Given the description of an element on the screen output the (x, y) to click on. 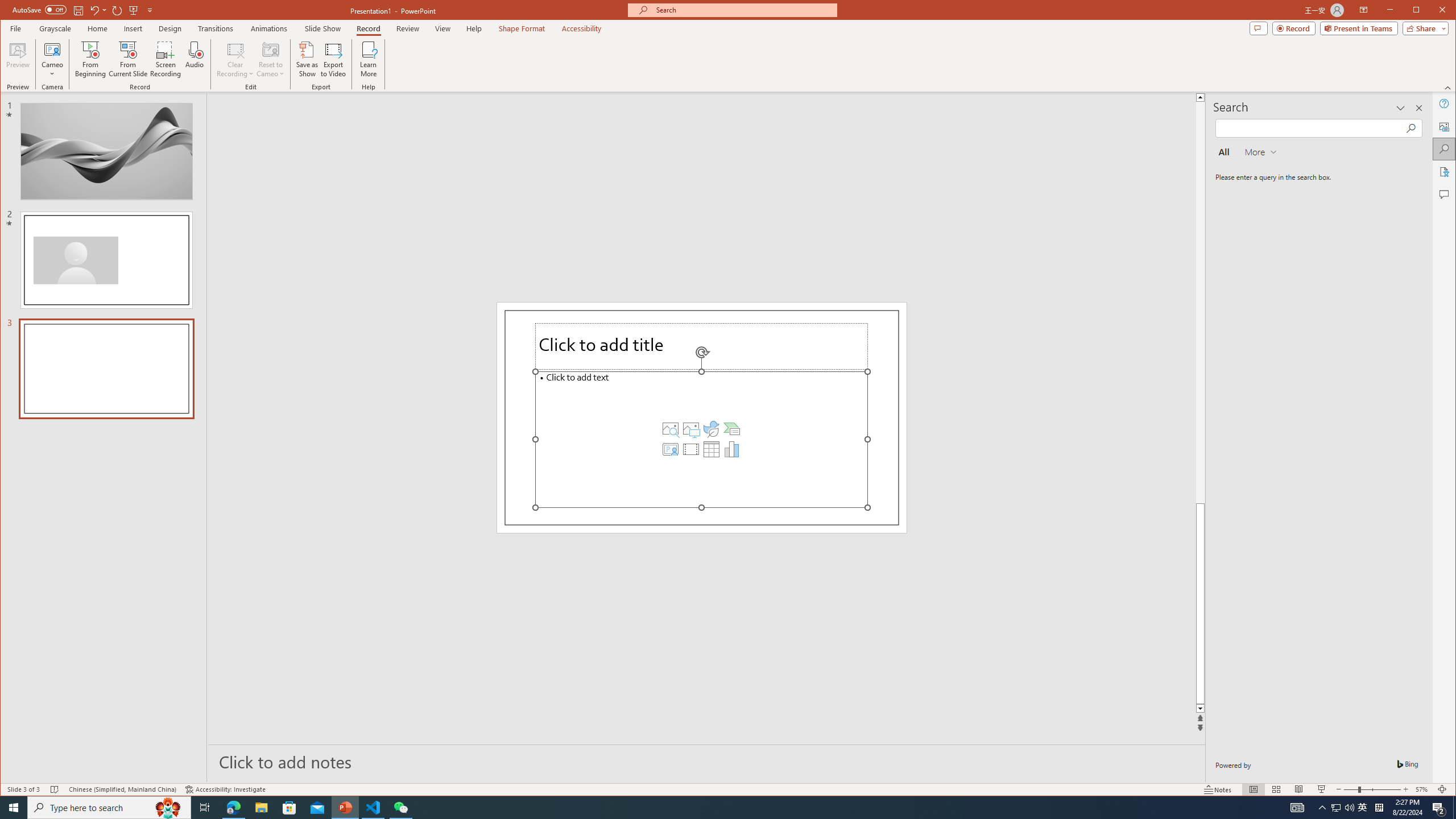
Export to Video (333, 59)
Clear Recording (234, 59)
Insert Video (690, 449)
